Given the description of an element on the screen output the (x, y) to click on. 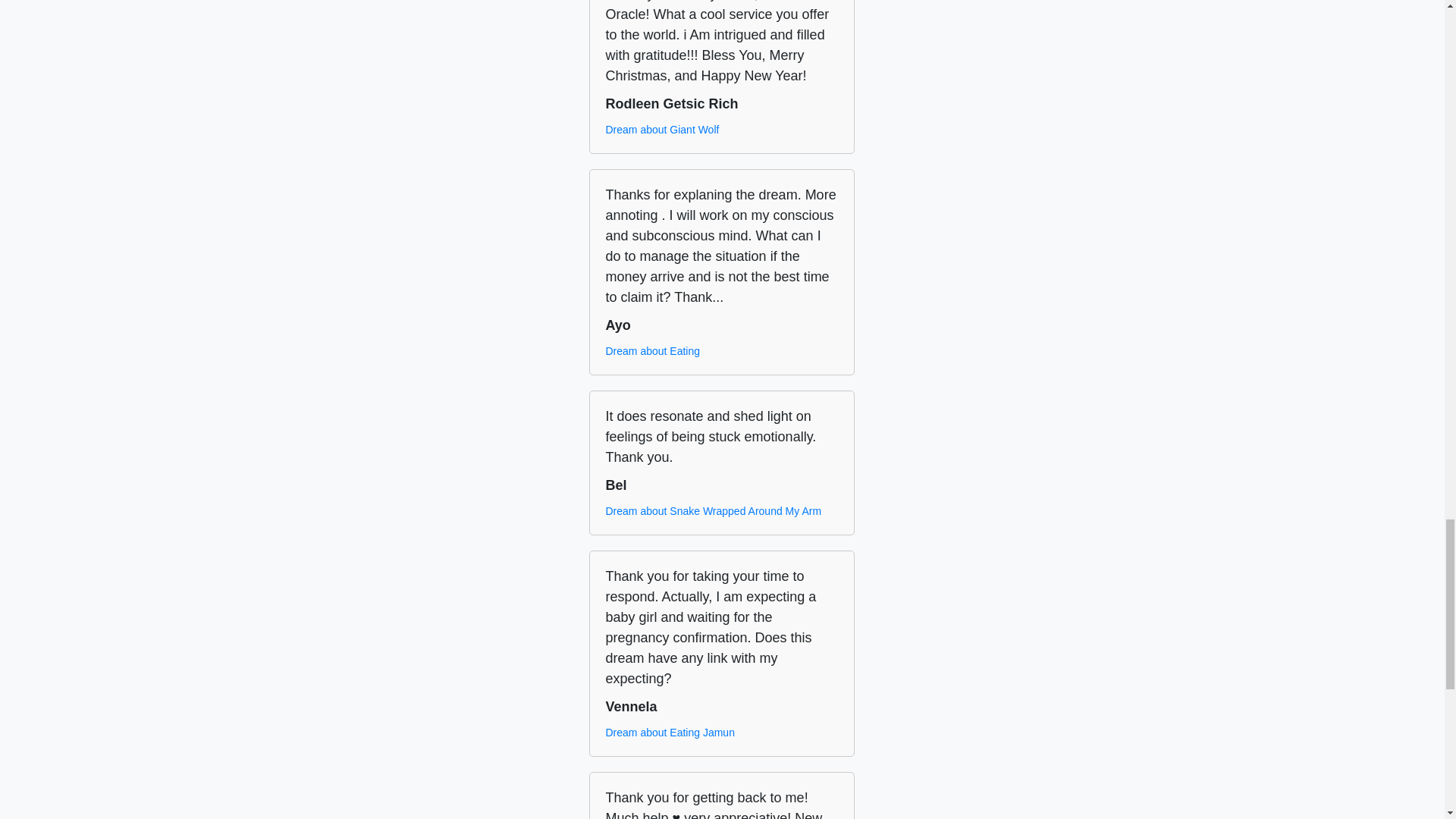
Dream about Eating Jamun (669, 732)
Dream about Snake Wrapped Around My Arm (713, 511)
Dream about Giant Wolf (662, 130)
Dream about Eating (652, 351)
